Given the description of an element on the screen output the (x, y) to click on. 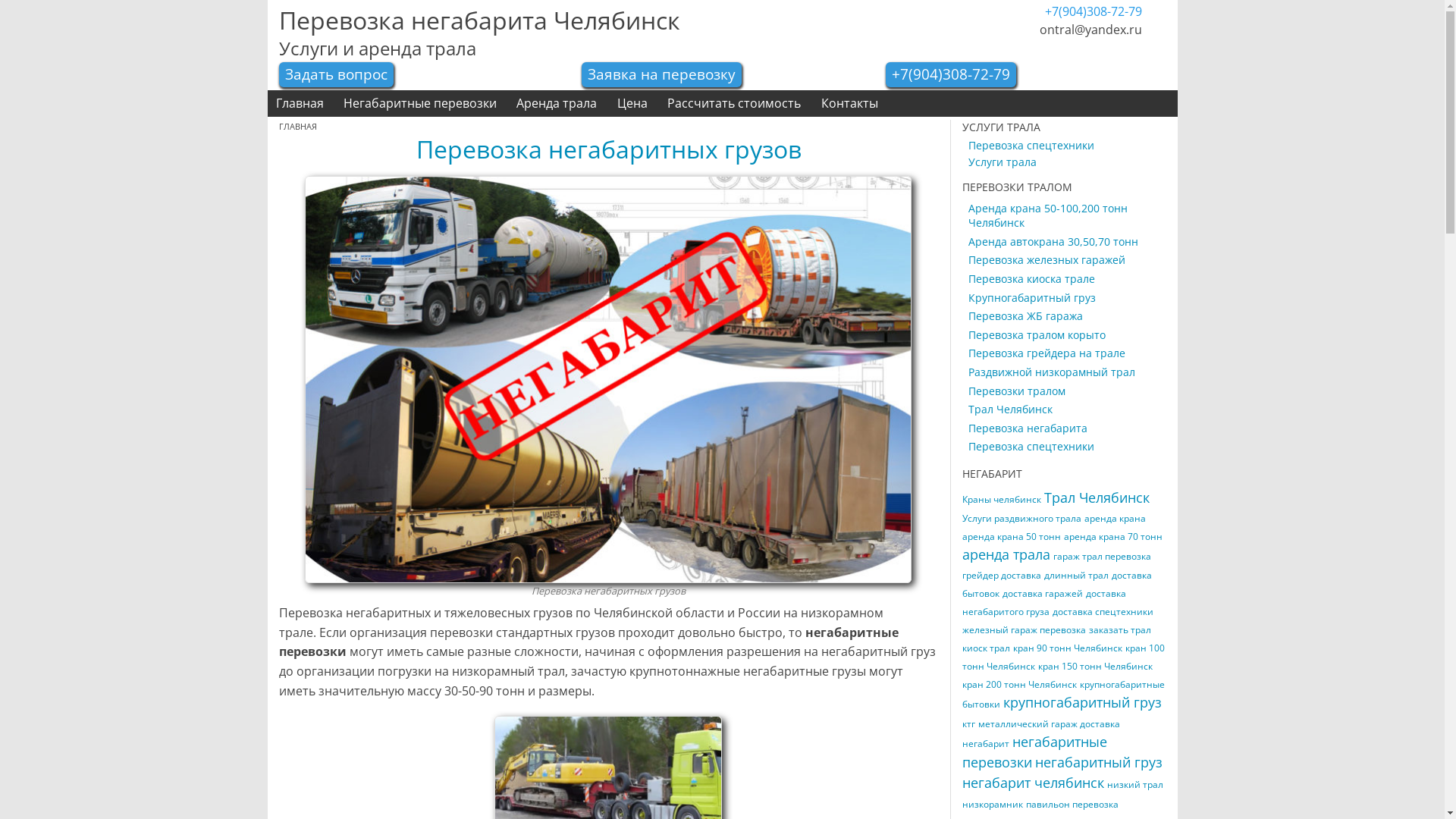
+7(904)308-72-79 Element type: text (1093, 11)
Skip to content Element type: text (0, 90)
+7(904)308-72-79 Element type: text (950, 73)
